Given the description of an element on the screen output the (x, y) to click on. 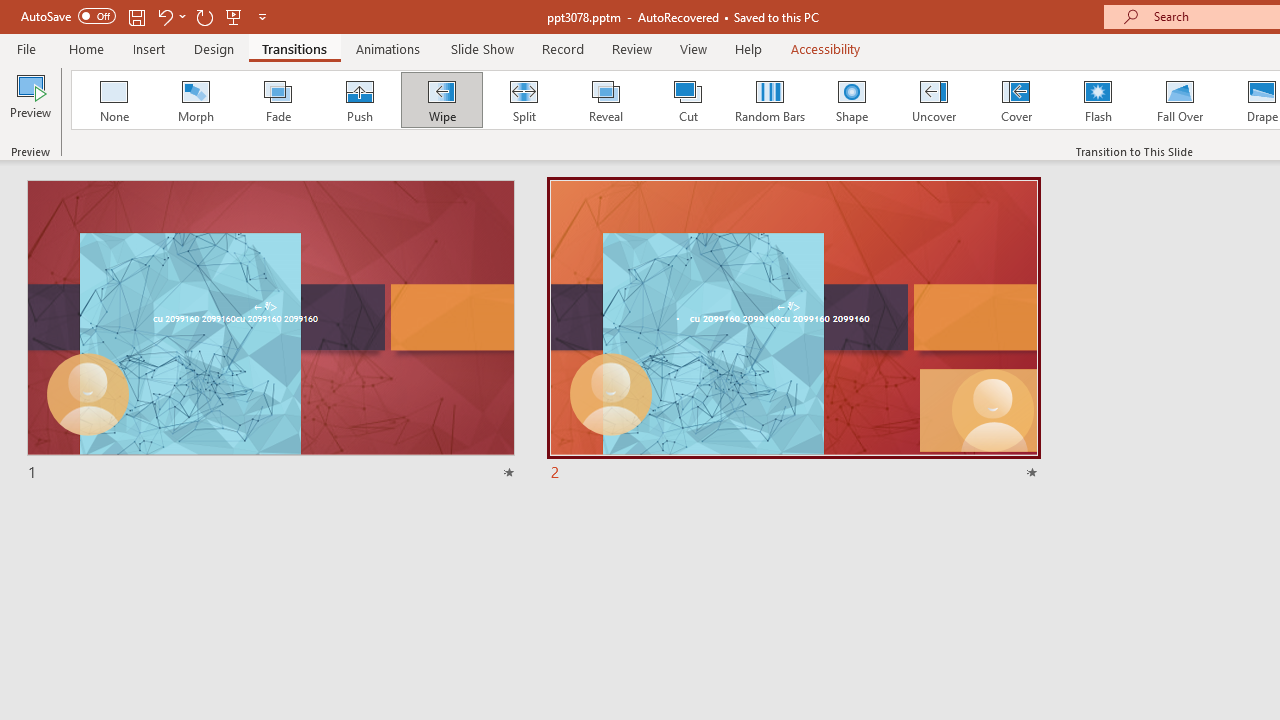
Flash (1098, 100)
Cover (1016, 100)
